Given the description of an element on the screen output the (x, y) to click on. 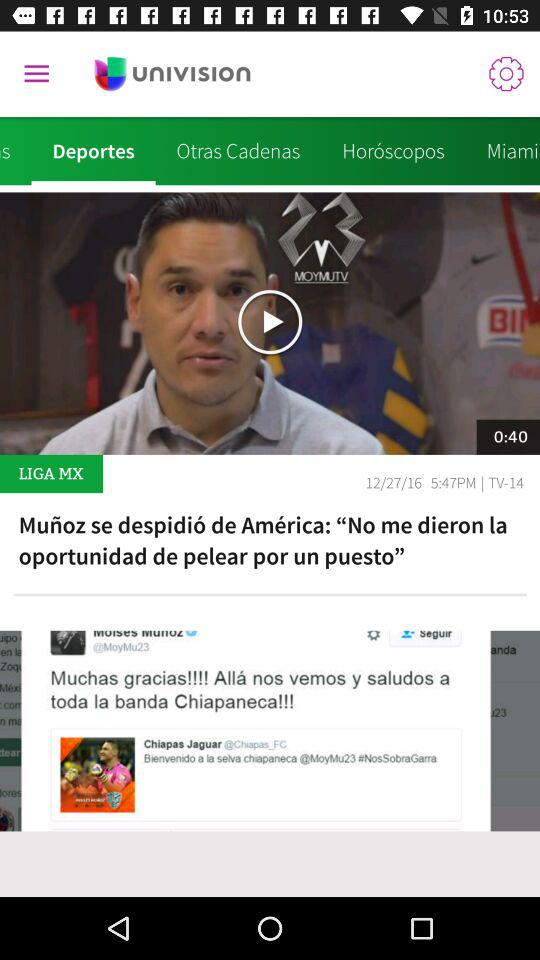
press noticias icon (15, 151)
